Given the description of an element on the screen output the (x, y) to click on. 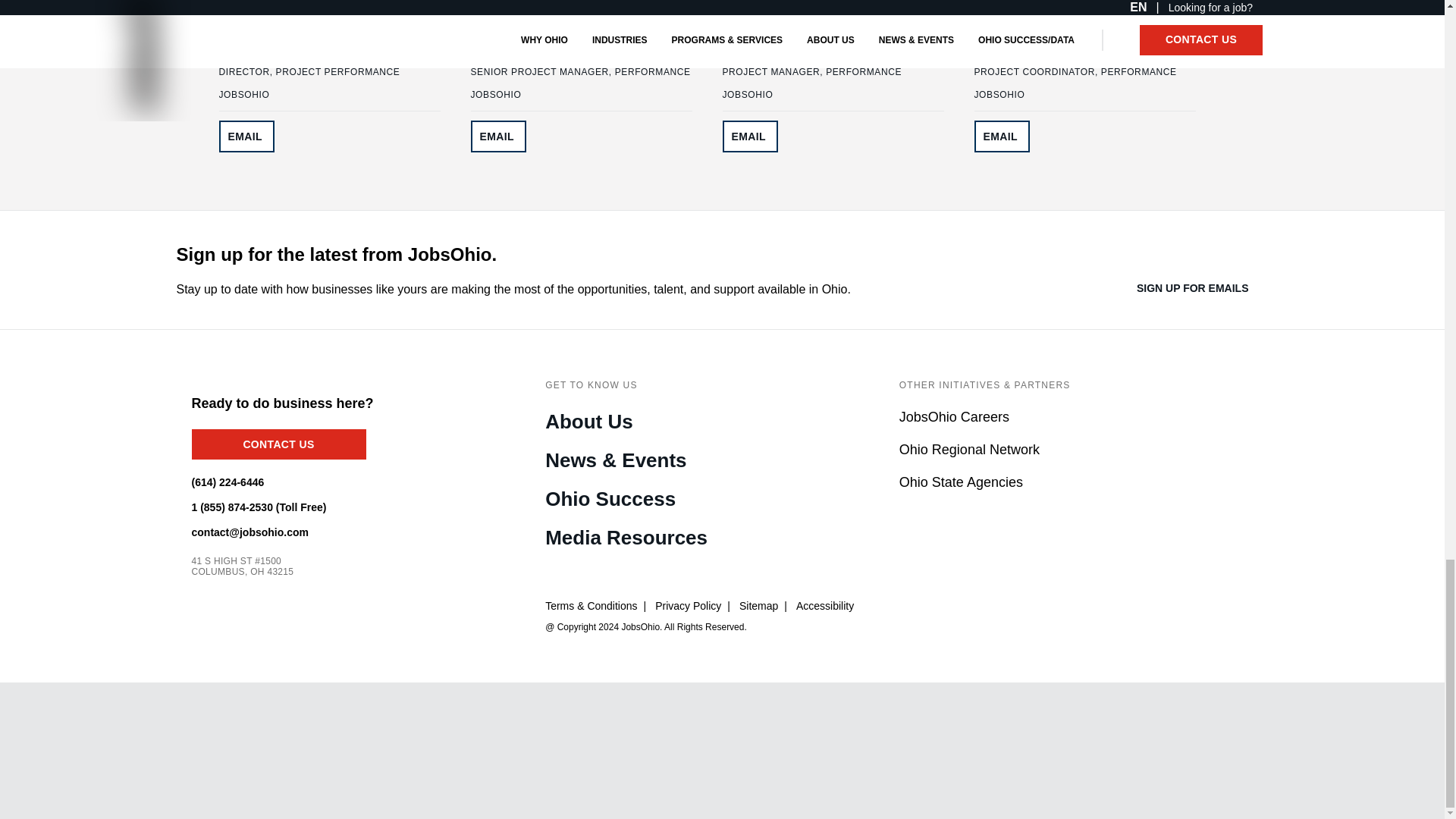
Privacy Policy (687, 606)
Sitemap (758, 606)
SIGN UP FOR EMAILS (1202, 288)
Ohio Success (609, 500)
EMAIL (749, 136)
About Us (588, 422)
EMAIL (245, 136)
EMAIL (497, 136)
CONTACT US (277, 444)
About Us (588, 422)
Ohio Success (609, 500)
Media Resources (625, 539)
EMAIL (1001, 136)
Accessibility (824, 606)
Media Resources (625, 539)
